Given the description of an element on the screen output the (x, y) to click on. 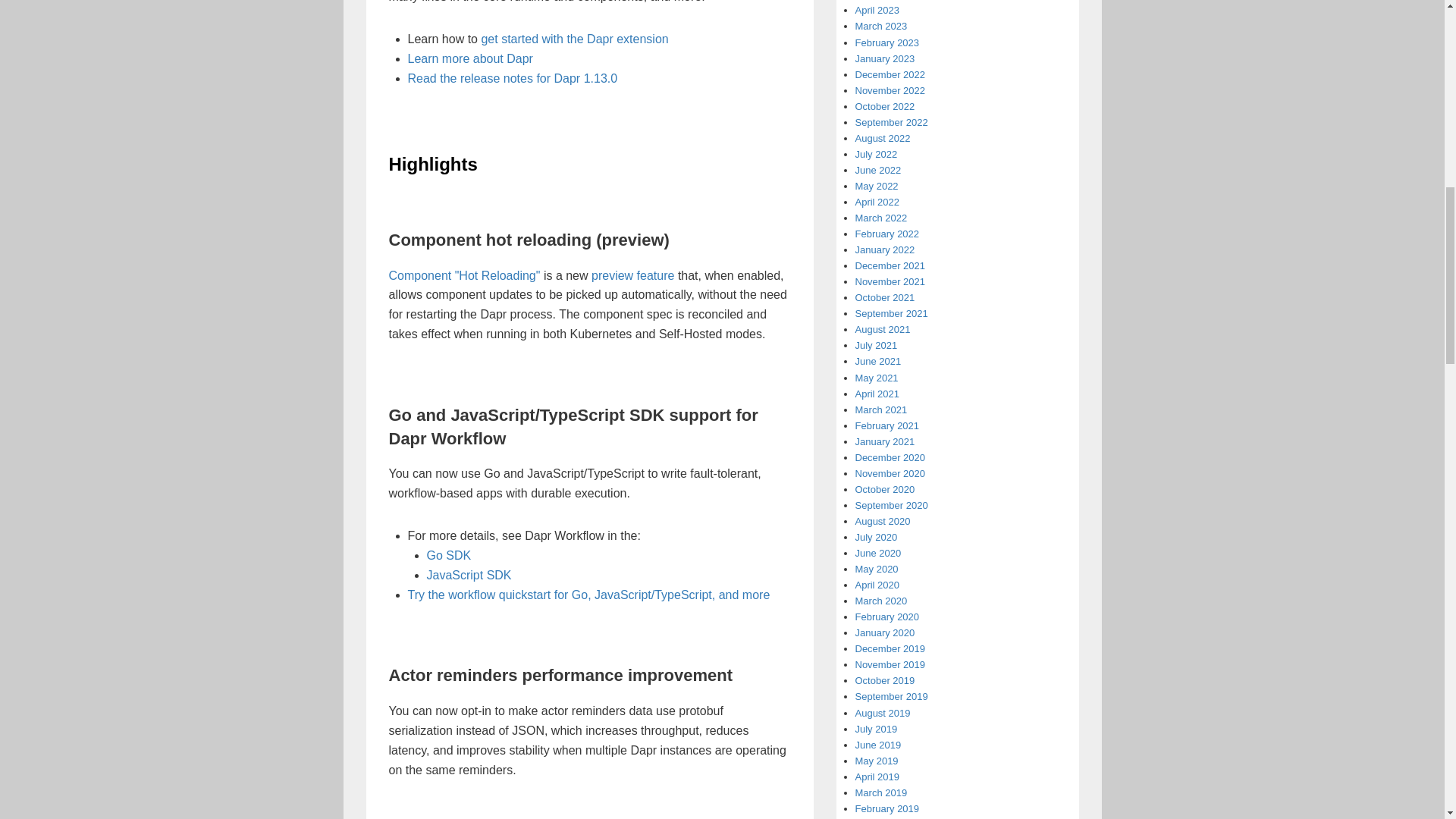
Go SDK (448, 554)
preview feature (632, 275)
Component "Hot Reloading" (464, 275)
Learn more about Dapr (469, 58)
get started with the Dapr extension (574, 38)
Read the release notes for Dapr 1.13.0 (512, 78)
JavaScript SDK (468, 574)
